Given the description of an element on the screen output the (x, y) to click on. 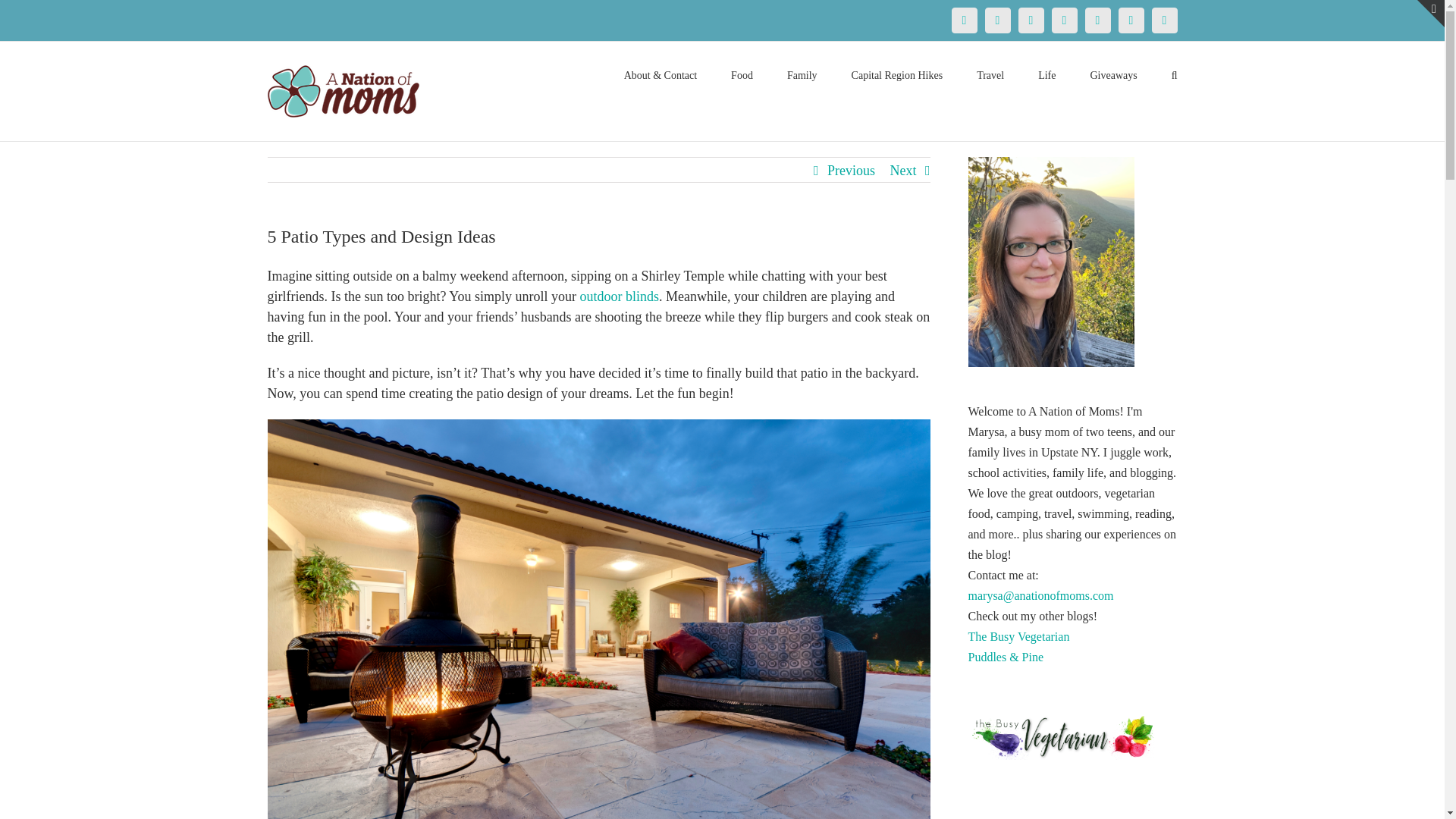
Pinterest (1030, 20)
Twitter (997, 20)
Email (1163, 20)
Capital Region Hikes (897, 74)
Instagram (1064, 20)
Facebook (963, 20)
YouTube (1096, 20)
